Given the description of an element on the screen output the (x, y) to click on. 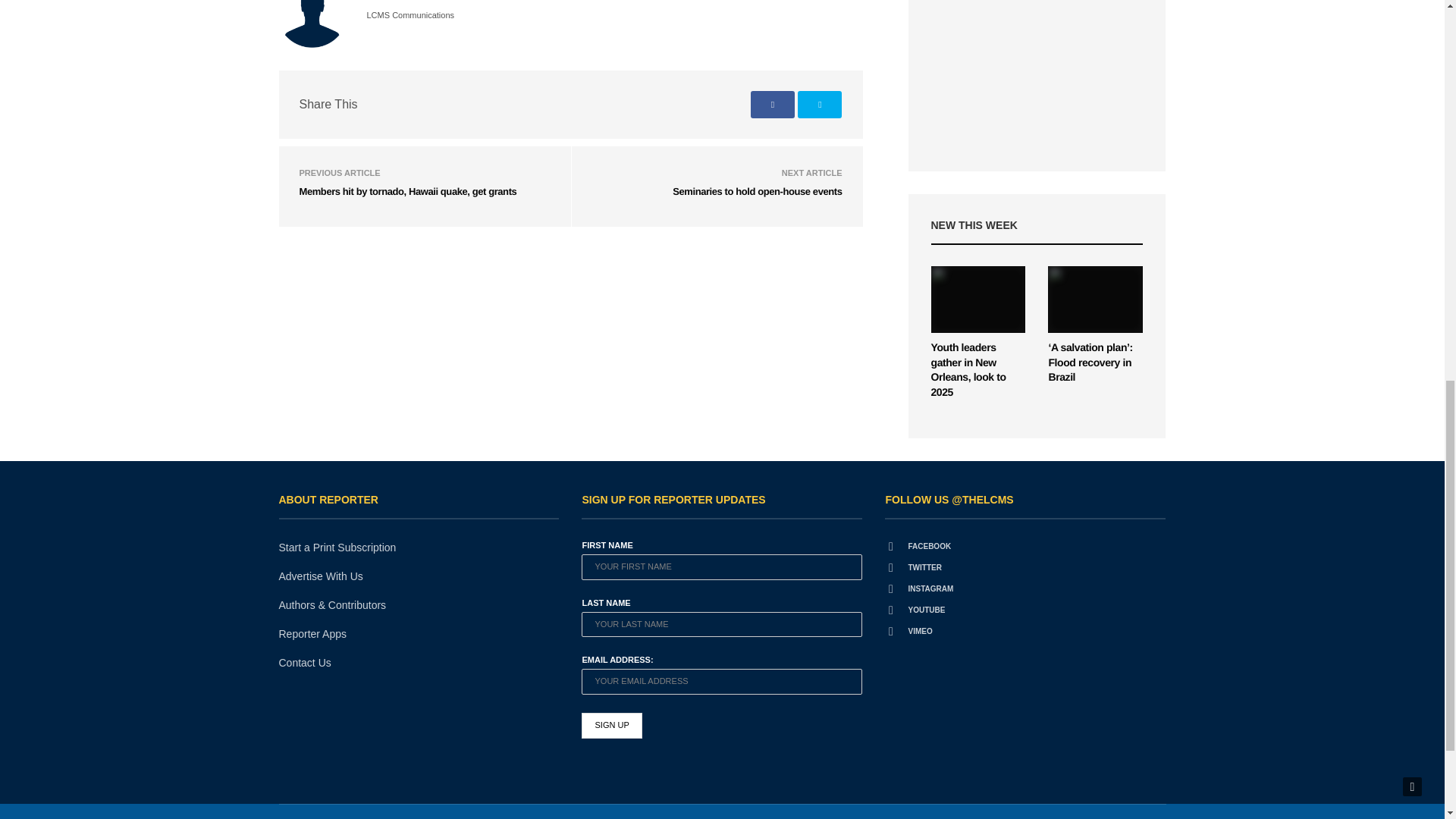
Members hit by tornado, Hawaii quake, get grants (407, 190)
Youth leaders gather in New Orleans, look to 2025 (978, 299)
Youth leaders gather in New Orleans, look to 2025 (968, 369)
Seminaries to hold open-house events (756, 190)
Sign up (611, 725)
